Given the description of an element on the screen output the (x, y) to click on. 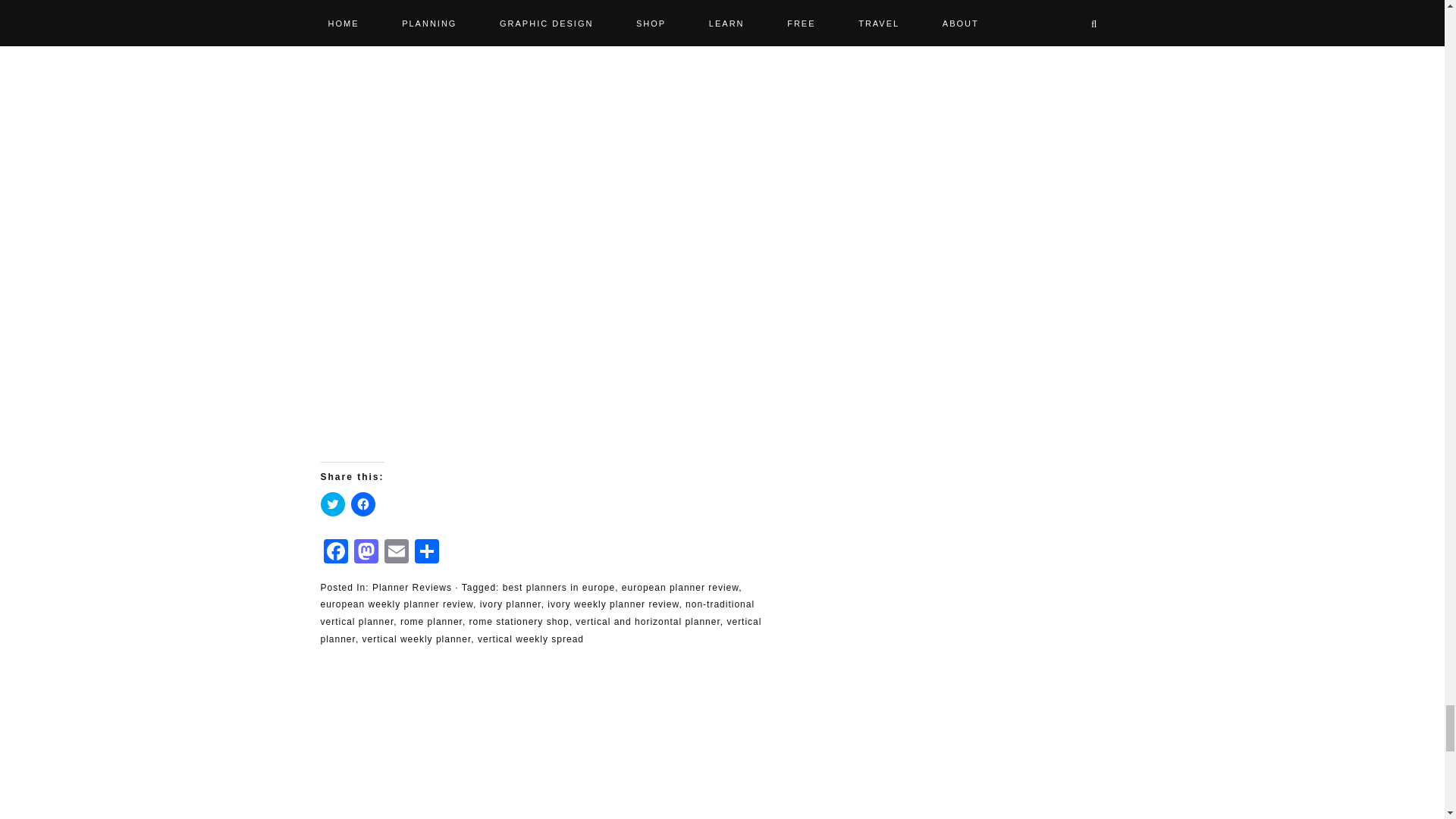
Facebook (335, 552)
Click to share on Facebook (362, 504)
Click to share on Twitter (331, 504)
Mastodon (365, 552)
Email (395, 552)
